Given the description of an element on the screen output the (x, y) to click on. 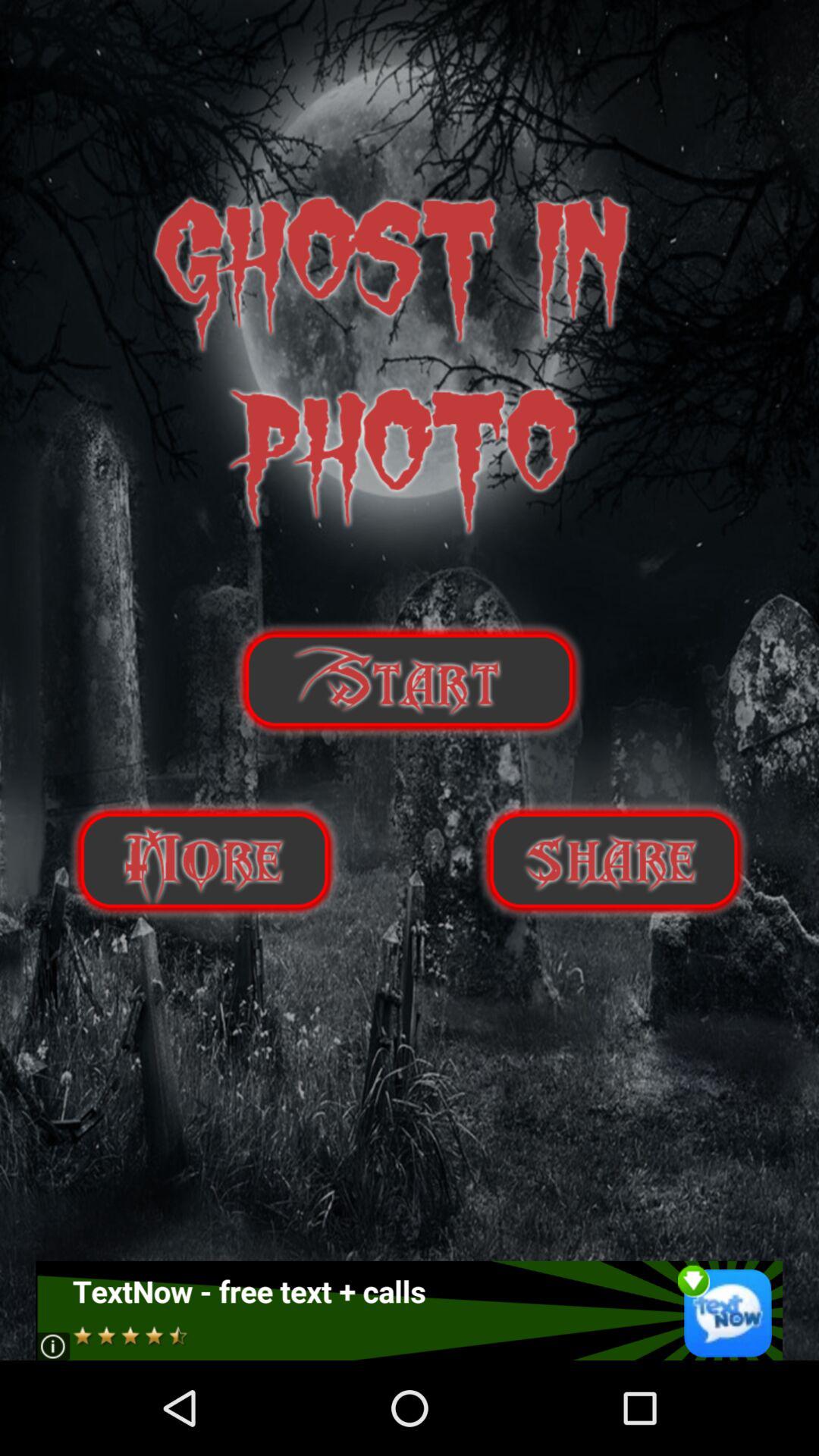
score botton (204, 860)
